Given the description of an element on the screen output the (x, y) to click on. 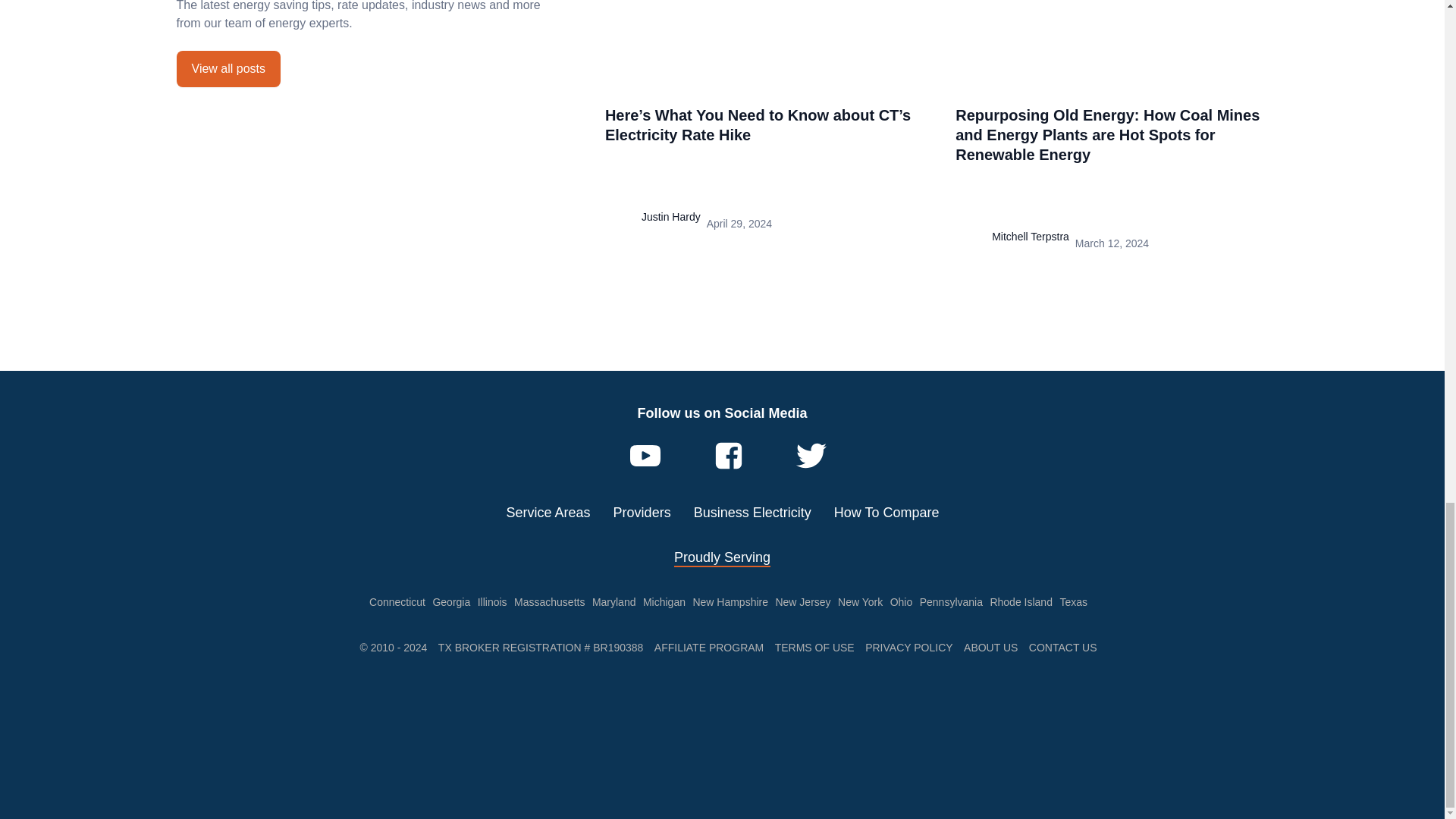
Twitter (811, 455)
YouTube (645, 455)
Facebook (727, 455)
